Given the description of an element on the screen output the (x, y) to click on. 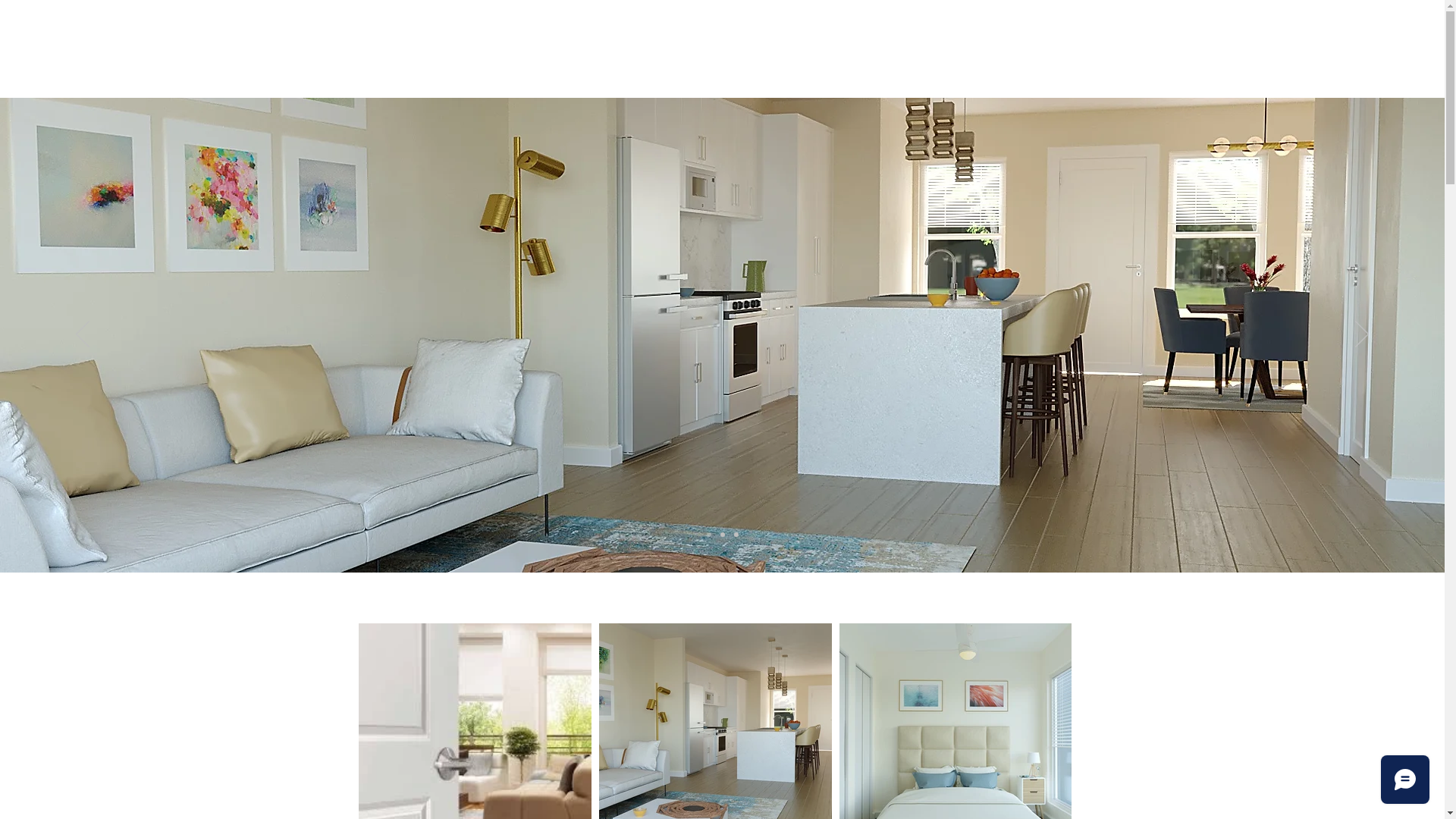
CONTACT US Element type: text (1032, 78)
HOME Element type: text (412, 78)
1721 Twentieth Element type: text (722, 37)
LEARN MORE Element type: text (907, 78)
FLOOR PLANS Element type: text (785, 78)
NEIGHBORHOOD Element type: text (660, 78)
